Given the description of an element on the screen output the (x, y) to click on. 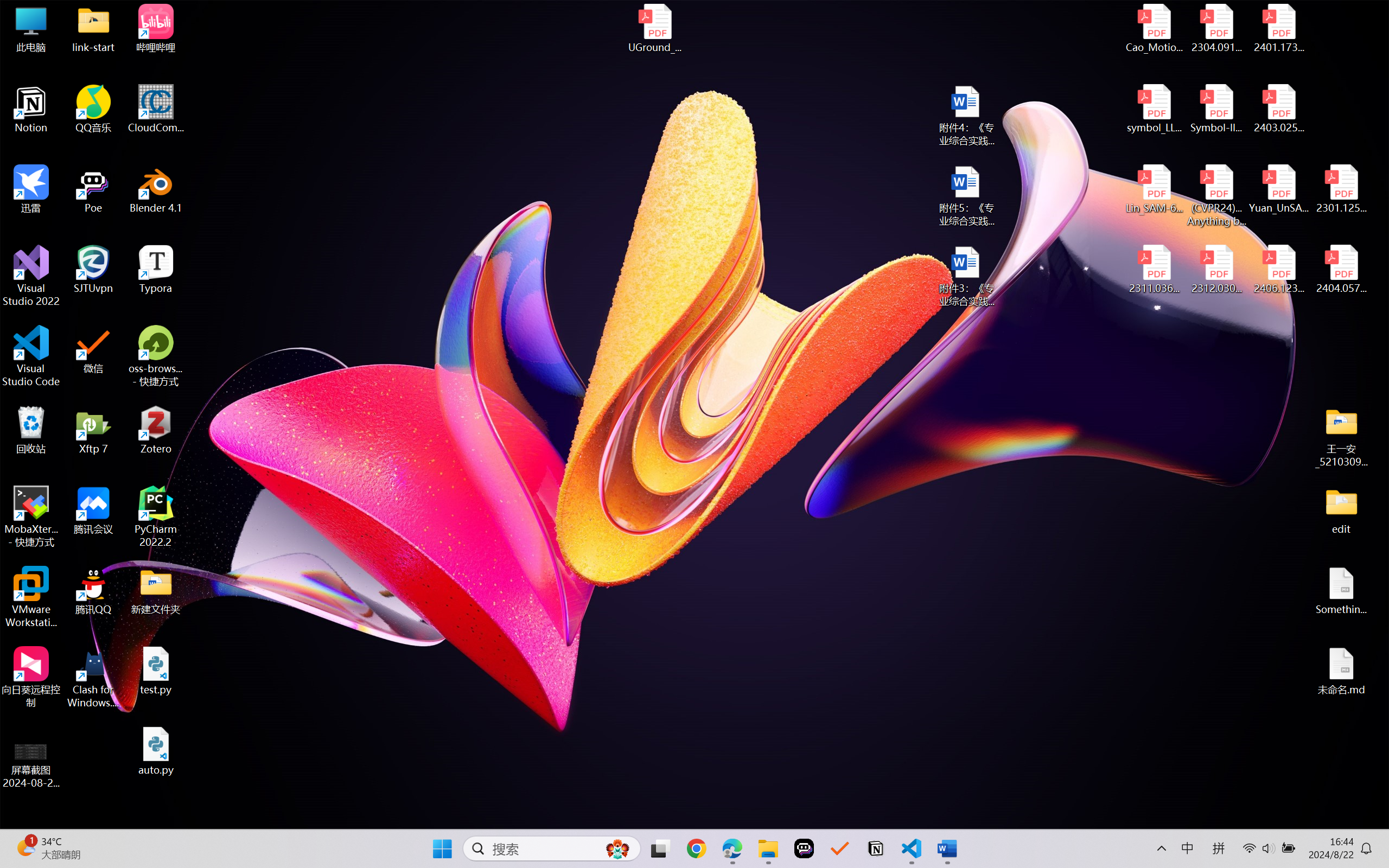
2301.12597v3.pdf (1340, 189)
VMware Workstation Pro (31, 597)
Symbol-llm-v2.pdf (1216, 109)
auto.py (156, 751)
symbol_LLM.pdf (1154, 109)
UGround_paper.pdf (654, 28)
